Given the description of an element on the screen output the (x, y) to click on. 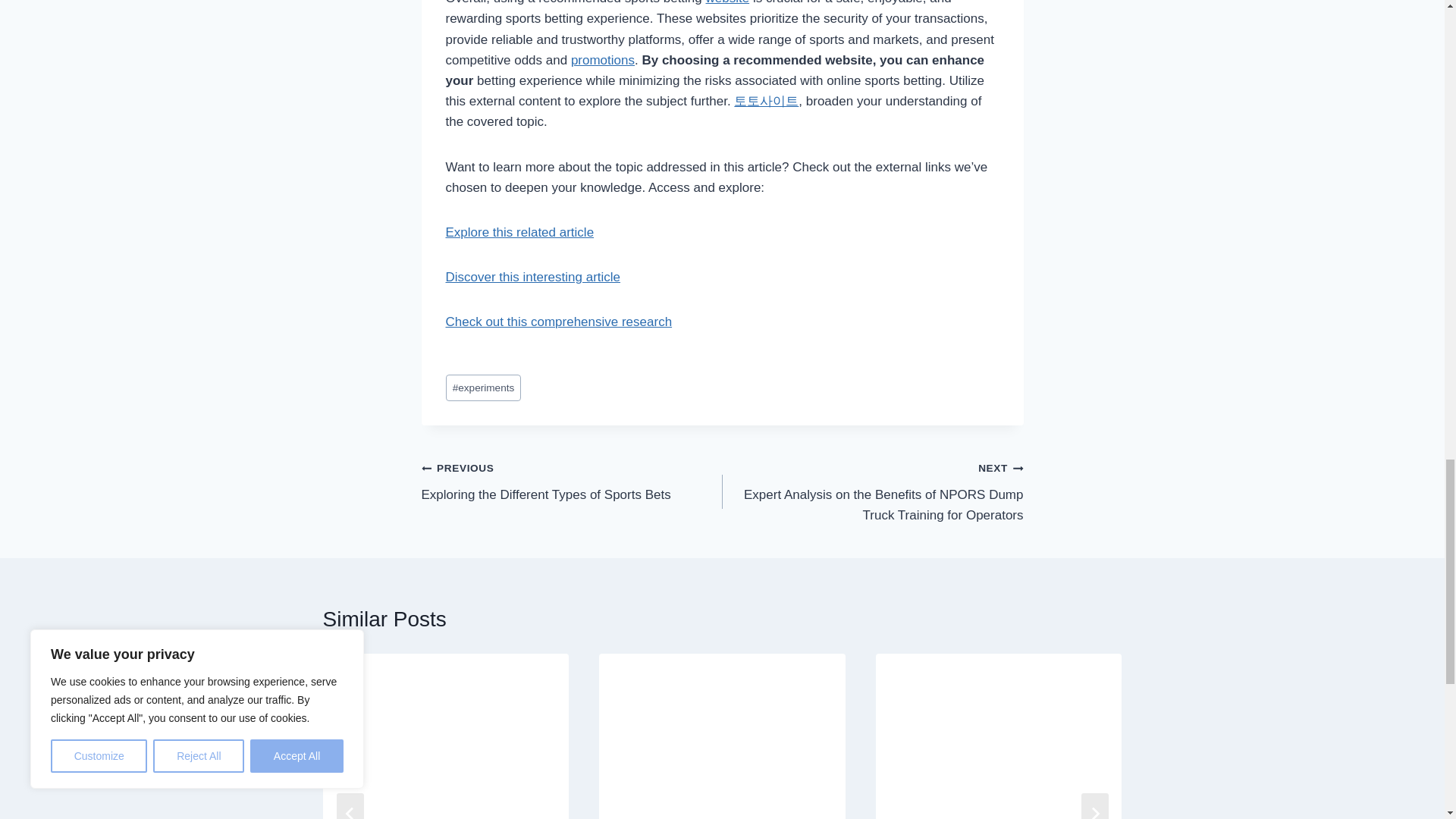
Discover this interesting article (533, 277)
experiments (483, 387)
Check out this comprehensive research (558, 321)
promotions (602, 60)
website (727, 2)
Explore this related article (519, 232)
